Given the description of an element on the screen output the (x, y) to click on. 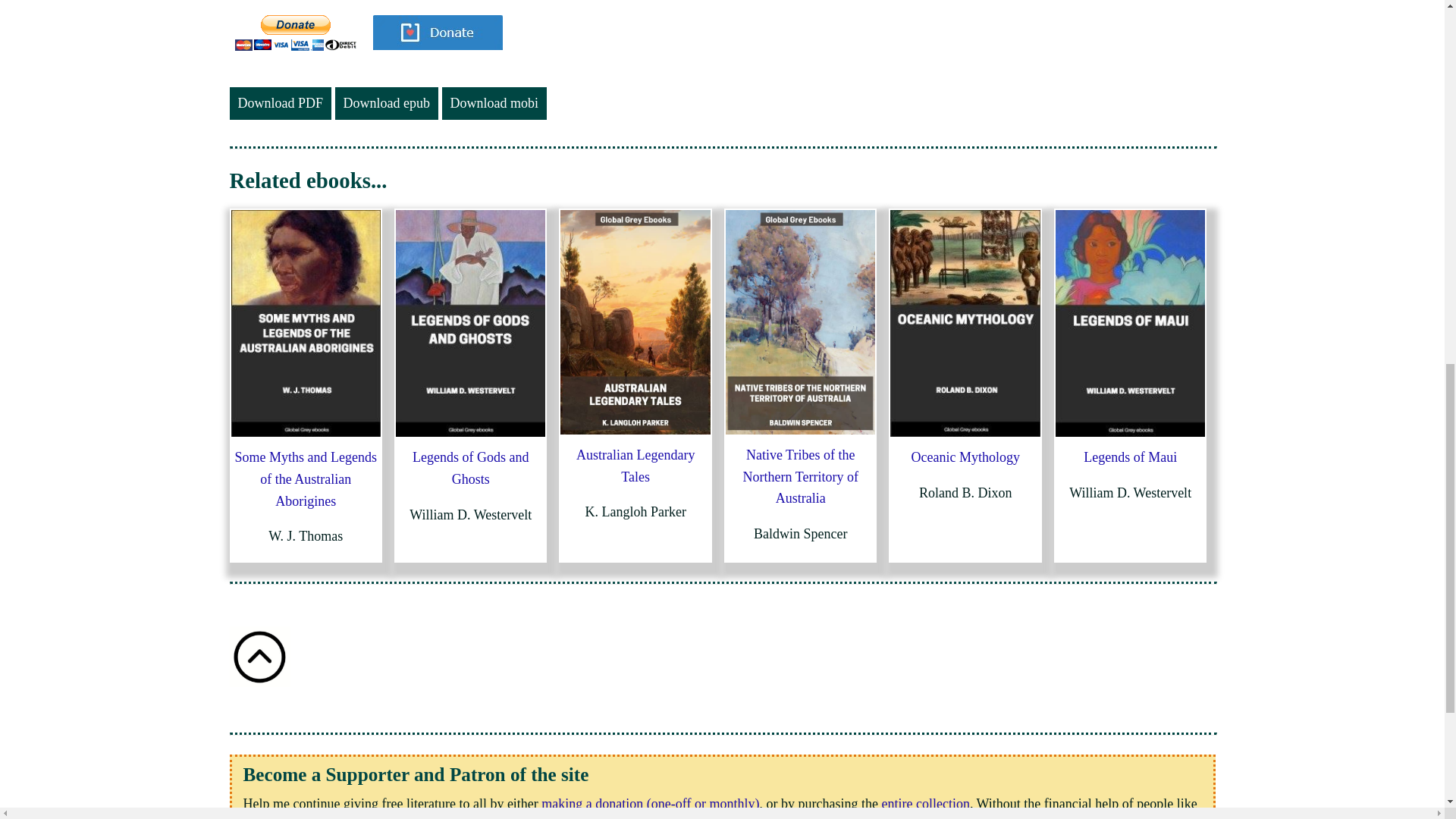
Download PDF (279, 102)
Download mobi (494, 102)
Download PDF (279, 102)
Legends of Gods and Ghosts (470, 467)
Native Tribes of the Northern Territory of Australia (800, 476)
Download epub (386, 102)
Some Myths and Legends of the Australian Aborigines (305, 478)
Oceanic Mythology (965, 457)
Australian Legendary Tales (635, 465)
Download mobi (494, 102)
